Given the description of an element on the screen output the (x, y) to click on. 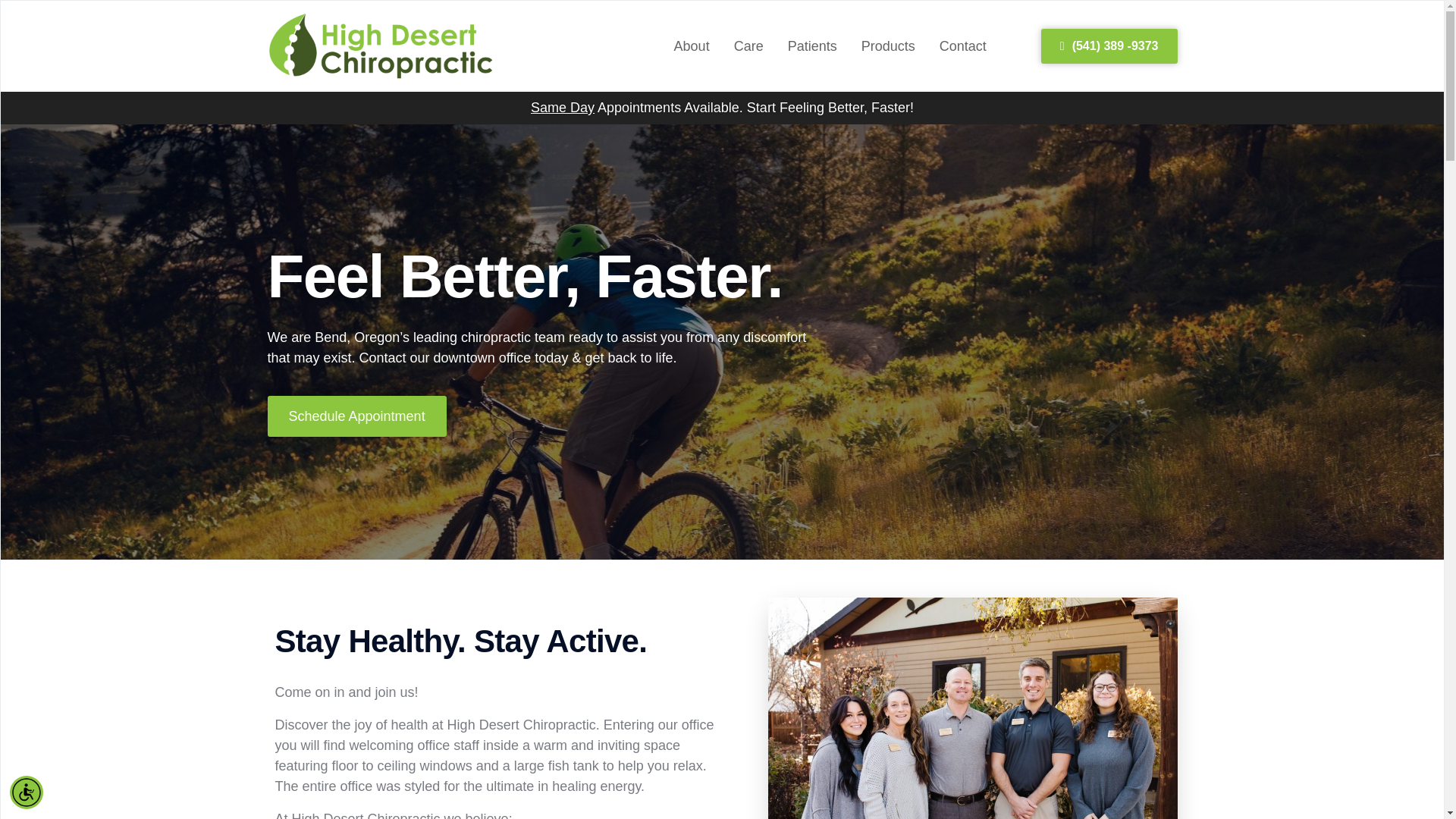
Patients (812, 45)
About (692, 45)
Products (888, 45)
Contact (963, 45)
Accessibility Menu (26, 792)
Care (747, 45)
